Given the description of an element on the screen output the (x, y) to click on. 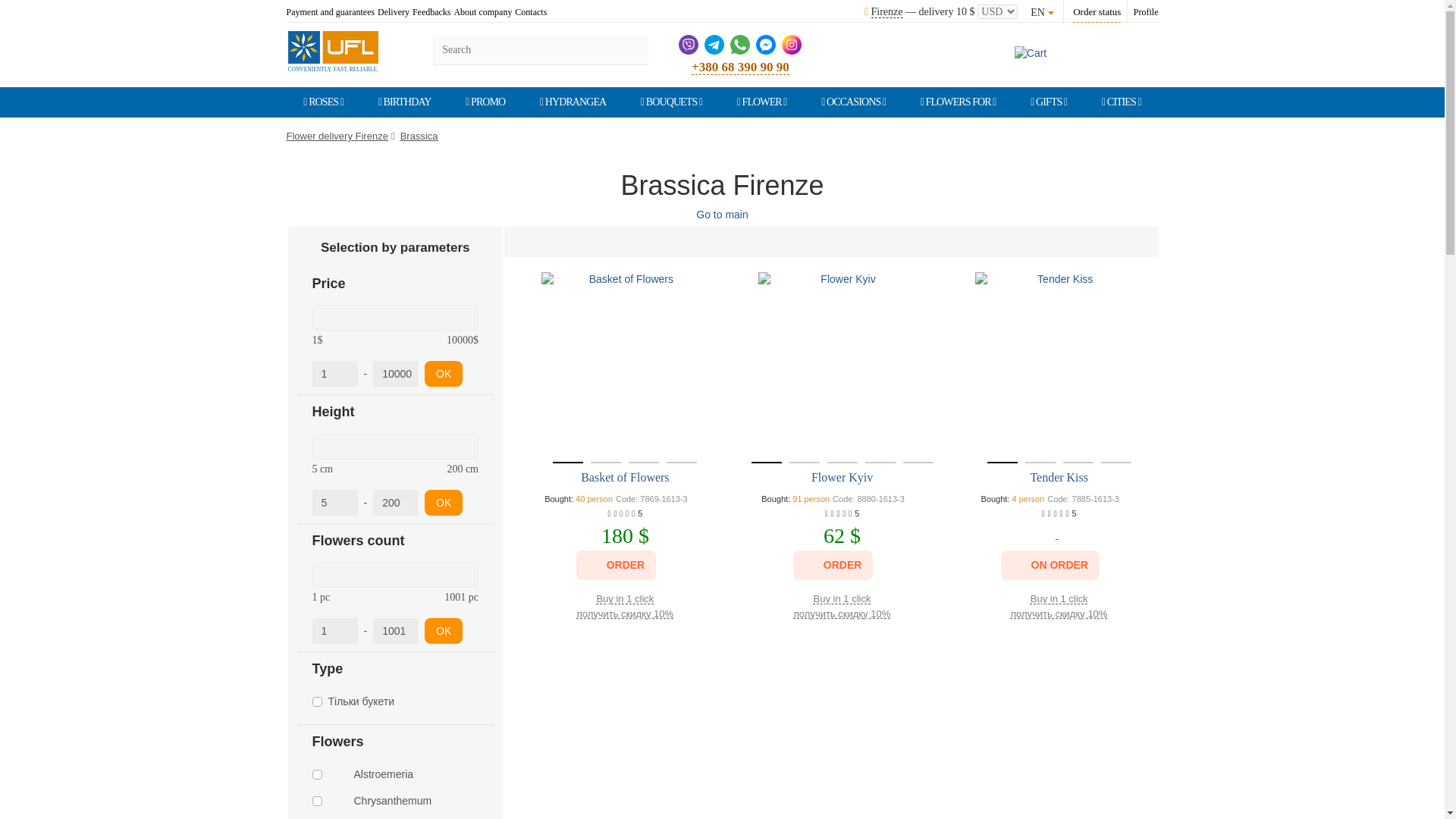
1001 (395, 630)
Cart (1030, 52)
Search (633, 48)
Contacts (531, 11)
Facebook Messanger (765, 43)
Lang (1041, 11)
Cost of delivery (965, 11)
WhatsApp 0683909090 (739, 43)
Curr (996, 11)
1 (335, 373)
200 (395, 502)
About company (482, 11)
Profile (1146, 11)
Buy a bouquet of brassica with delivery in Firenze - Firenze (333, 46)
10000 (395, 373)
